Given the description of an element on the screen output the (x, y) to click on. 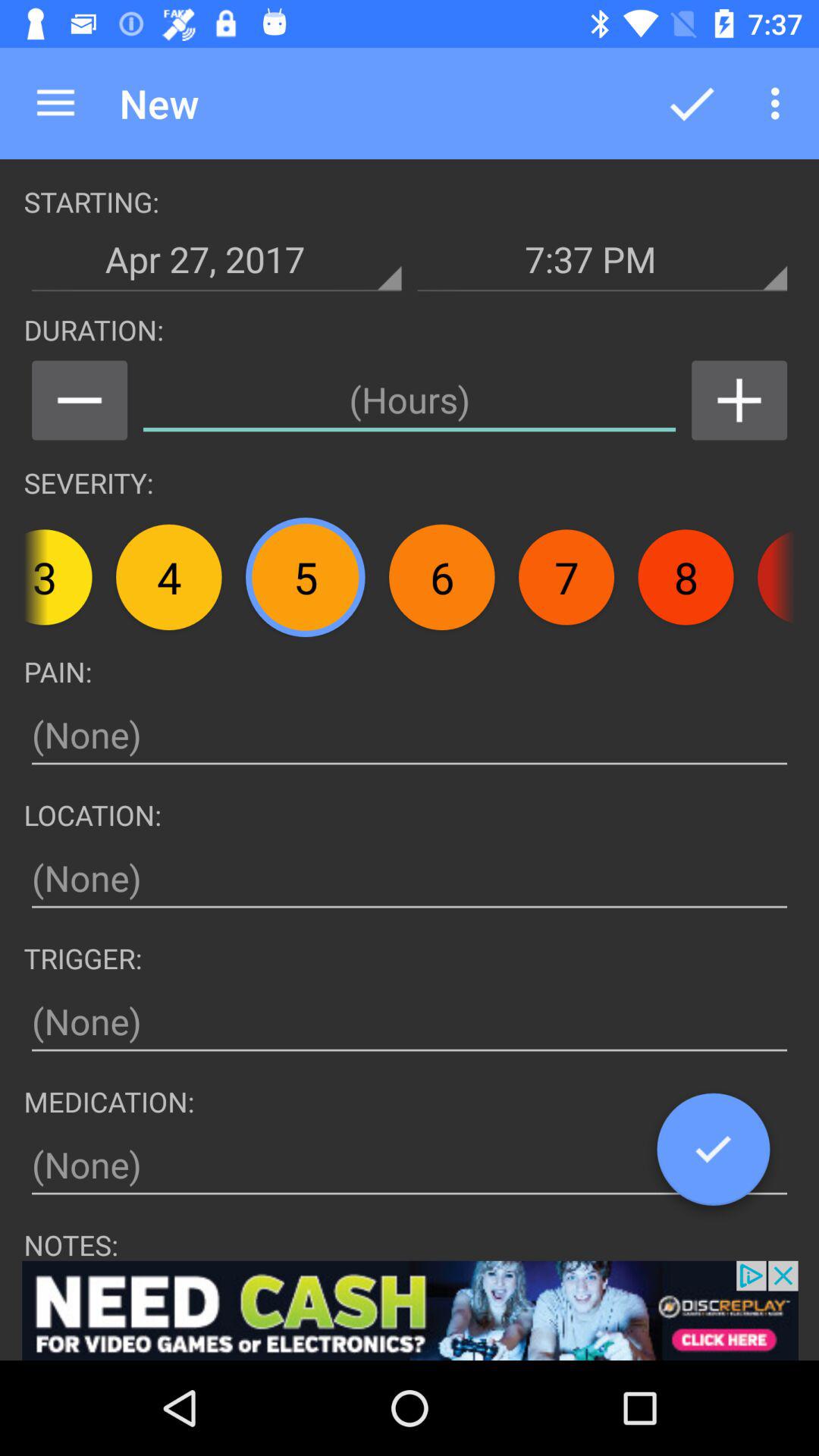
indicate the duration (409, 400)
